Given the description of an element on the screen output the (x, y) to click on. 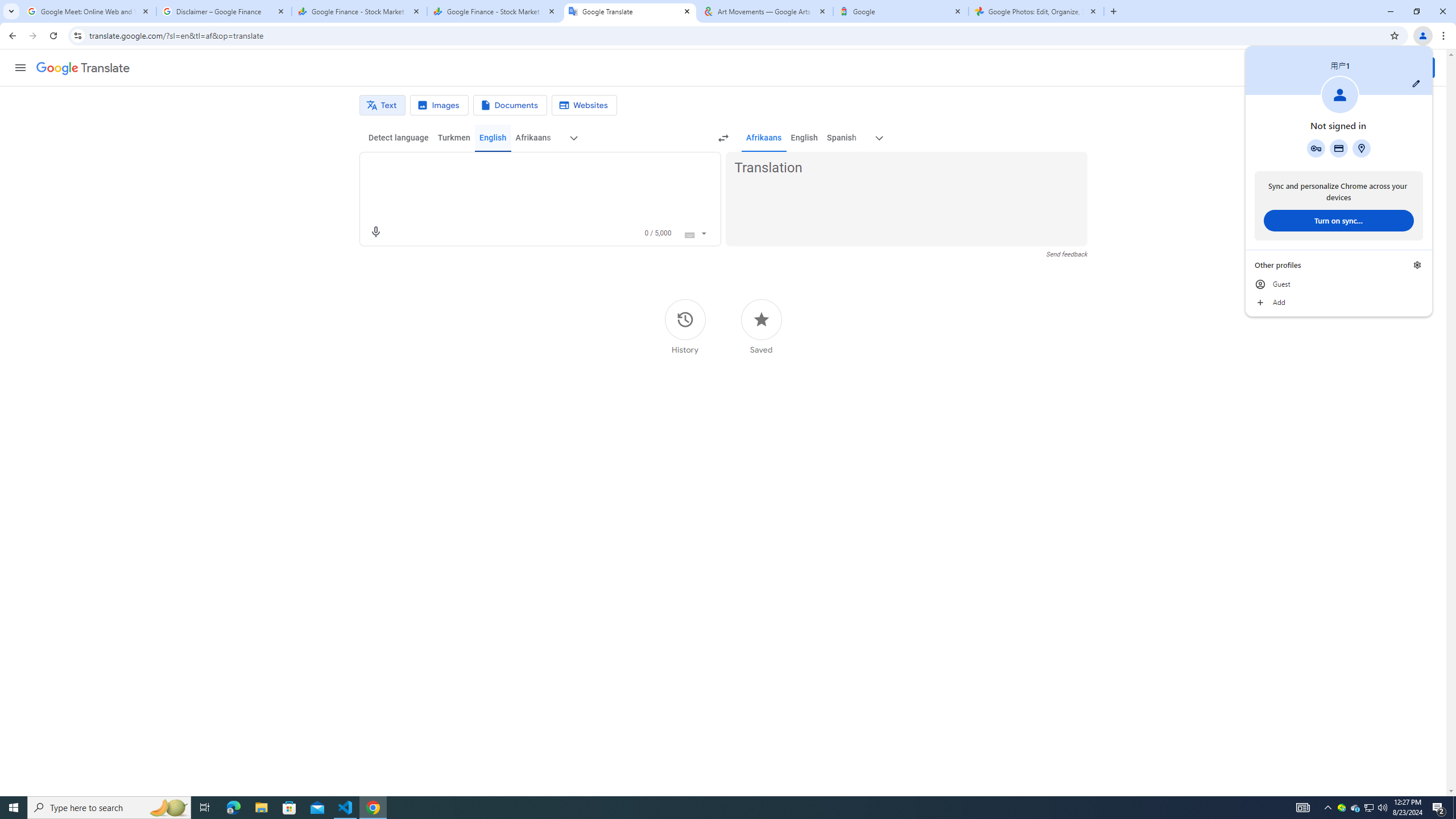
More source languages (1355, 807)
Running applications (573, 137)
Google Password Manager (710, 807)
System Promoted Notification Area (1315, 148)
Google Translate (1341, 807)
Search highlights icon opens search home window (82, 68)
Customize profile (167, 807)
Add (1415, 83)
Detect language (1338, 302)
Show the Input Tools menu (398, 137)
Main menu (703, 231)
